Given the description of an element on the screen output the (x, y) to click on. 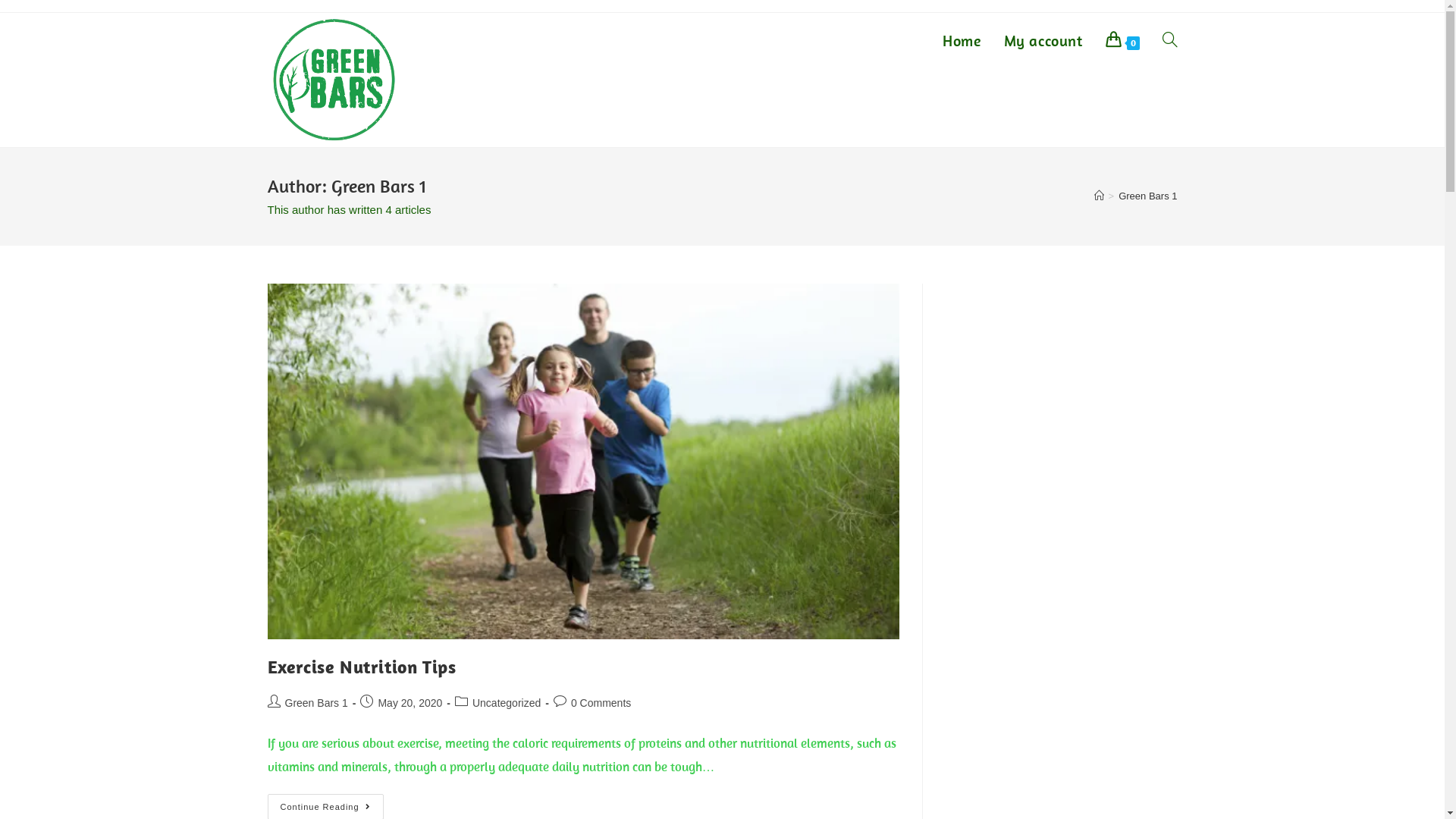
0 Element type: text (1121, 40)
Exercise Nutrition Tips Element type: text (360, 666)
Uncategorized Element type: text (506, 702)
0 Comments Element type: text (600, 702)
Green Bars 1 Element type: text (316, 702)
Green Bars 1 Element type: text (1147, 195)
Home Element type: text (961, 40)
My account Element type: text (1042, 40)
